Given the description of an element on the screen output the (x, y) to click on. 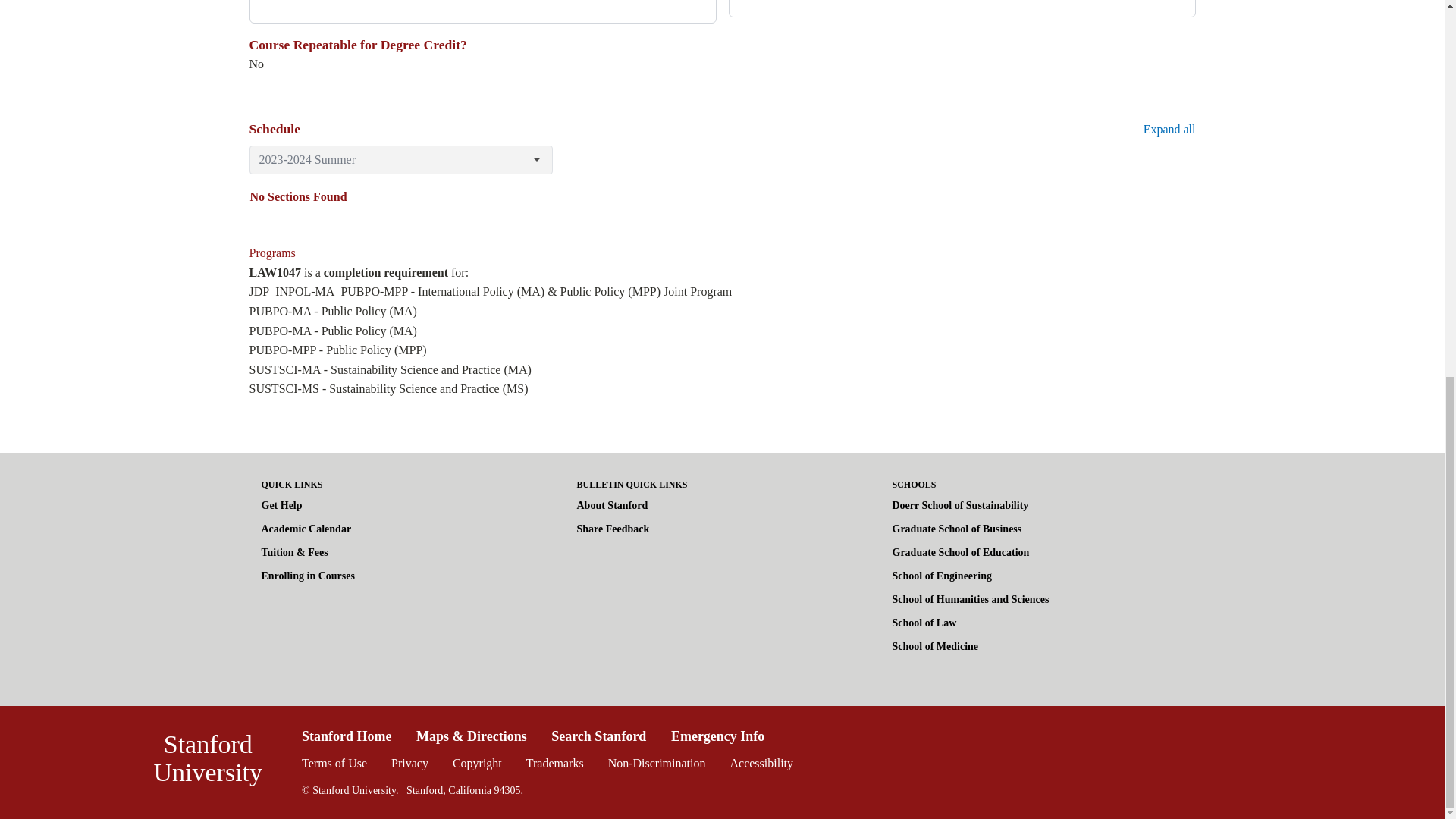
Non-discrimination policy (657, 762)
Terms of use for sites (333, 762)
Report alleged copyright infringement (477, 762)
Common Stanford resources (721, 762)
Privacy and cookie policy (409, 762)
Report web accessibility issues (761, 762)
Ownership and use of Stanford trademarks and images (554, 762)
